Given the description of an element on the screen output the (x, y) to click on. 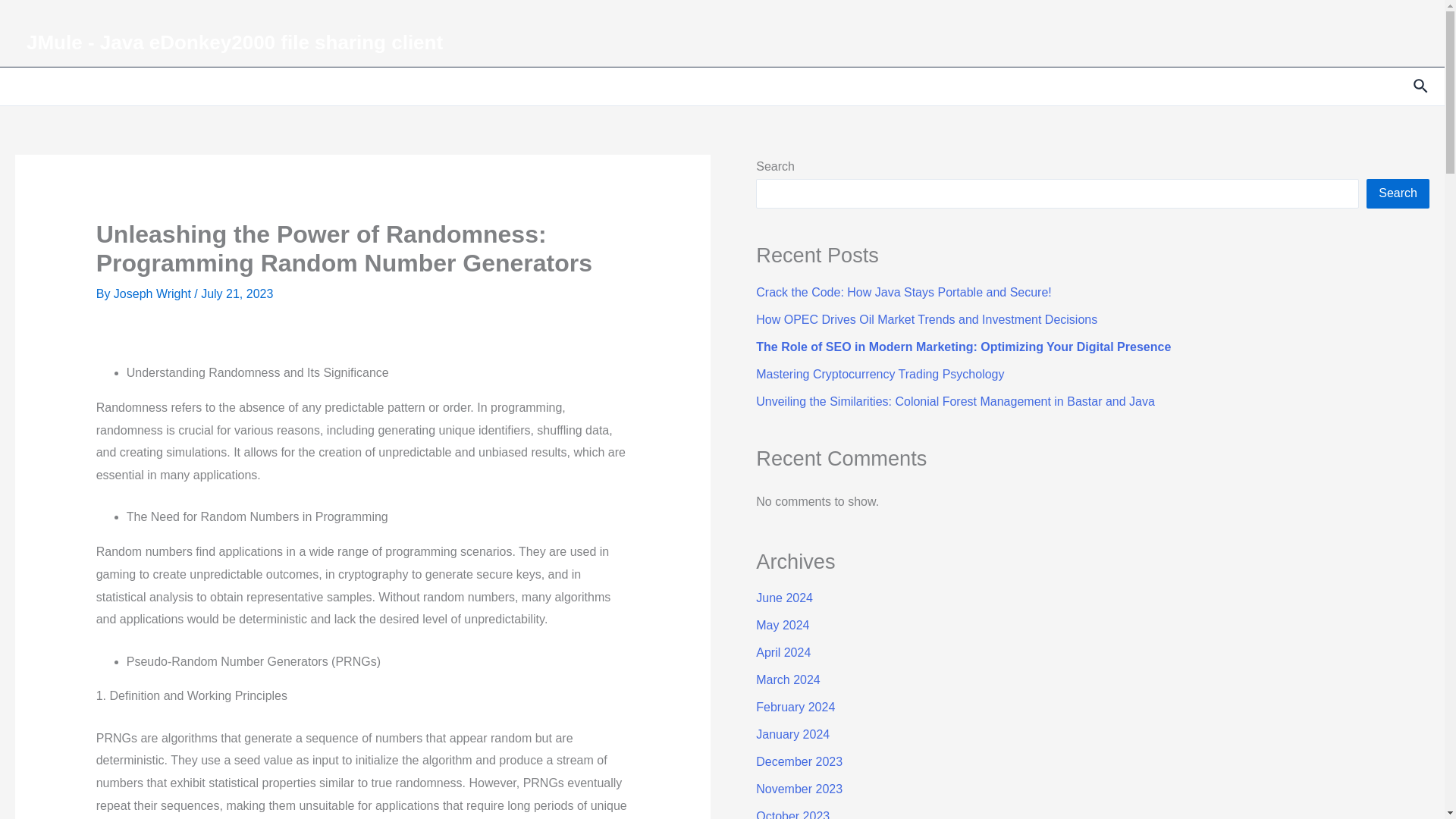
HOME (44, 86)
How OPEC Drives Oil Market Trends and Investment Decisions (926, 318)
NEWS (105, 86)
DEVELOPMENT (477, 86)
Mastering Cryptocurrency Trading Psychology (879, 373)
Crack the Code: How Java Stays Portable and Secure! (903, 291)
Joseph Wright (153, 293)
JMule - Java eDonkey2000 file sharing client (234, 42)
SF PROJECT (584, 86)
Search (1398, 193)
DOWNLOAD (370, 86)
FORUM (287, 86)
View all posts by Joseph Wright (153, 293)
